Given the description of an element on the screen output the (x, y) to click on. 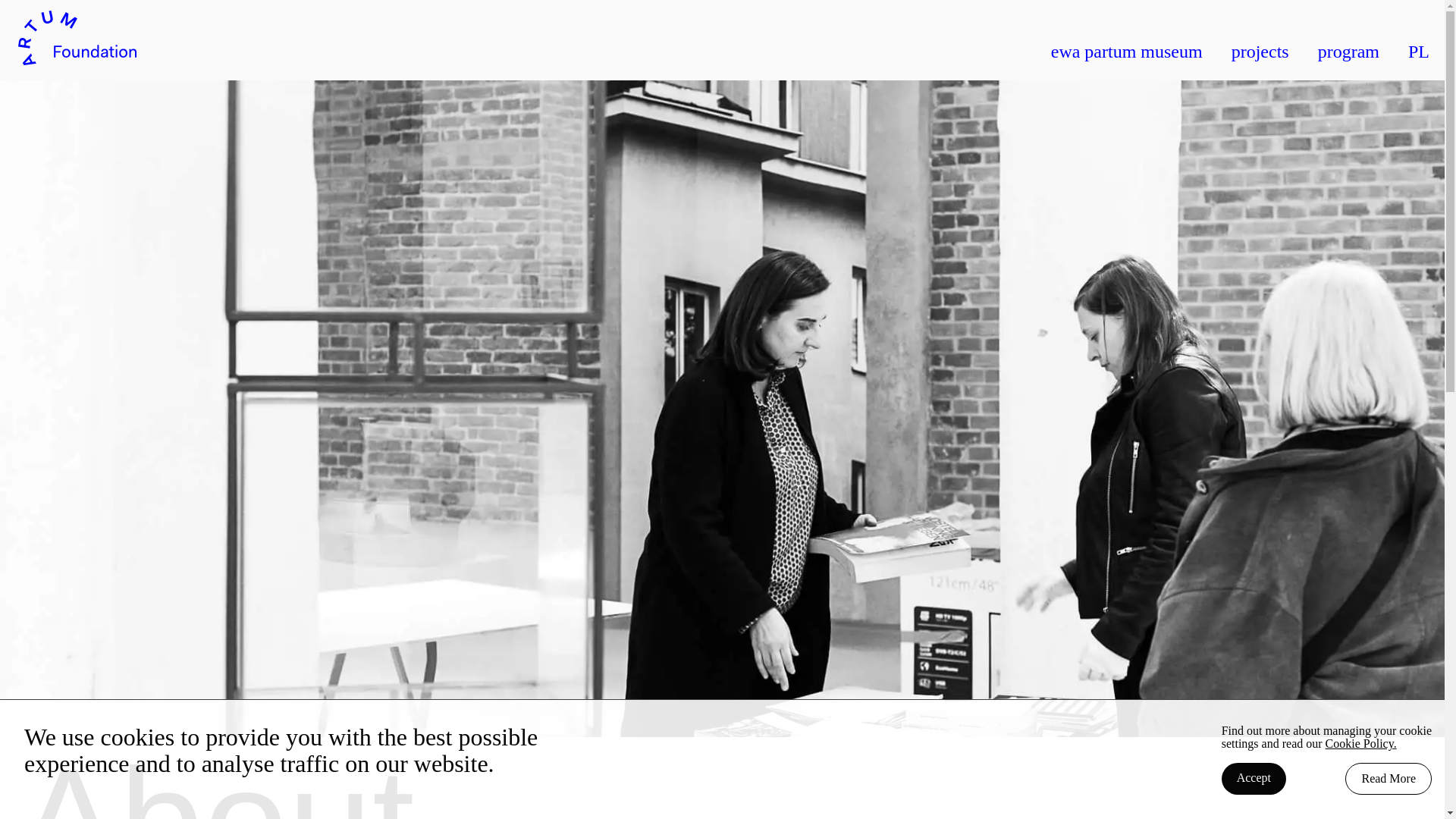
program (1347, 51)
Read More (1388, 778)
Cookie Policy. (1360, 743)
projects (1259, 51)
PL (1418, 51)
ewa partum museum (1126, 51)
